Given the description of an element on the screen output the (x, y) to click on. 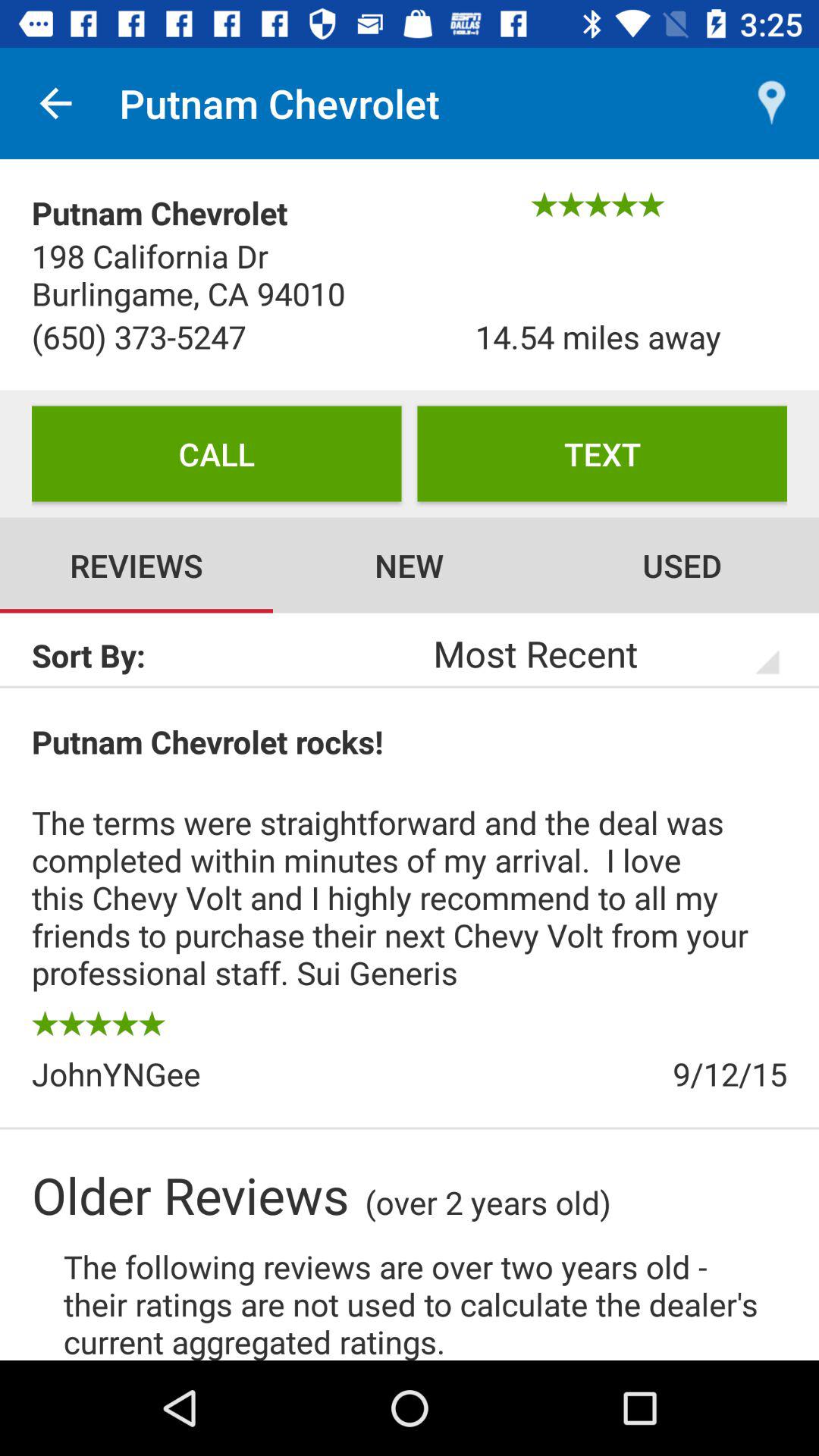
select icon below (650) 373-5247 (216, 453)
